Given the description of an element on the screen output the (x, y) to click on. 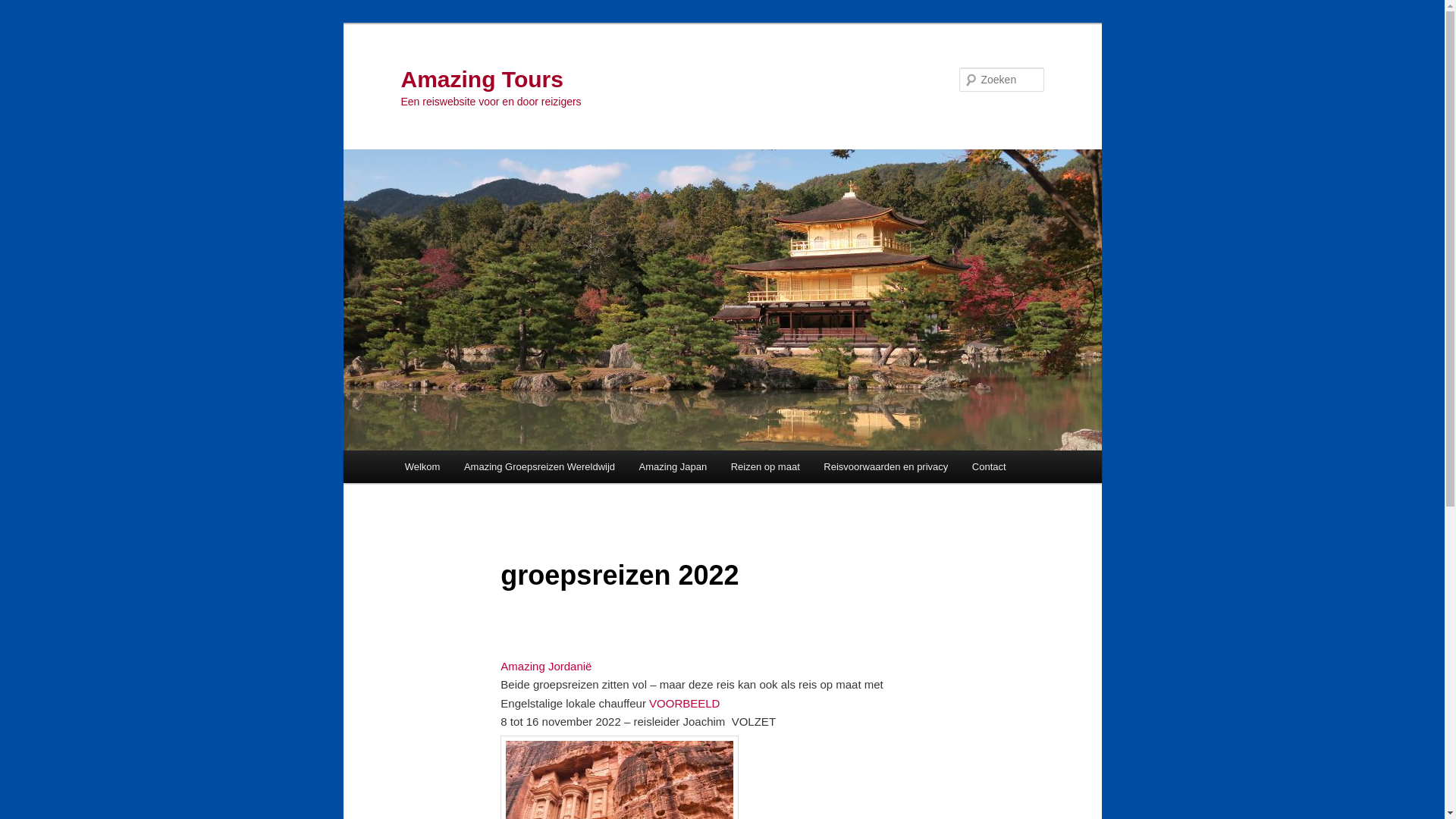
Amazing Tours Element type: text (481, 78)
Zoeken Element type: text (25, 8)
Reisvoorwaarden en privacy Element type: text (886, 466)
Reizen op maat Element type: text (765, 466)
Amazing Groepsreizen Wereldwijd Element type: text (539, 466)
Spring naar de primaire inhoud Element type: text (414, 450)
Contact Element type: text (988, 466)
VOORBEELD Element type: text (684, 702)
Welkom Element type: text (421, 466)
Amazing Japan Element type: text (672, 466)
